Given the description of an element on the screen output the (x, y) to click on. 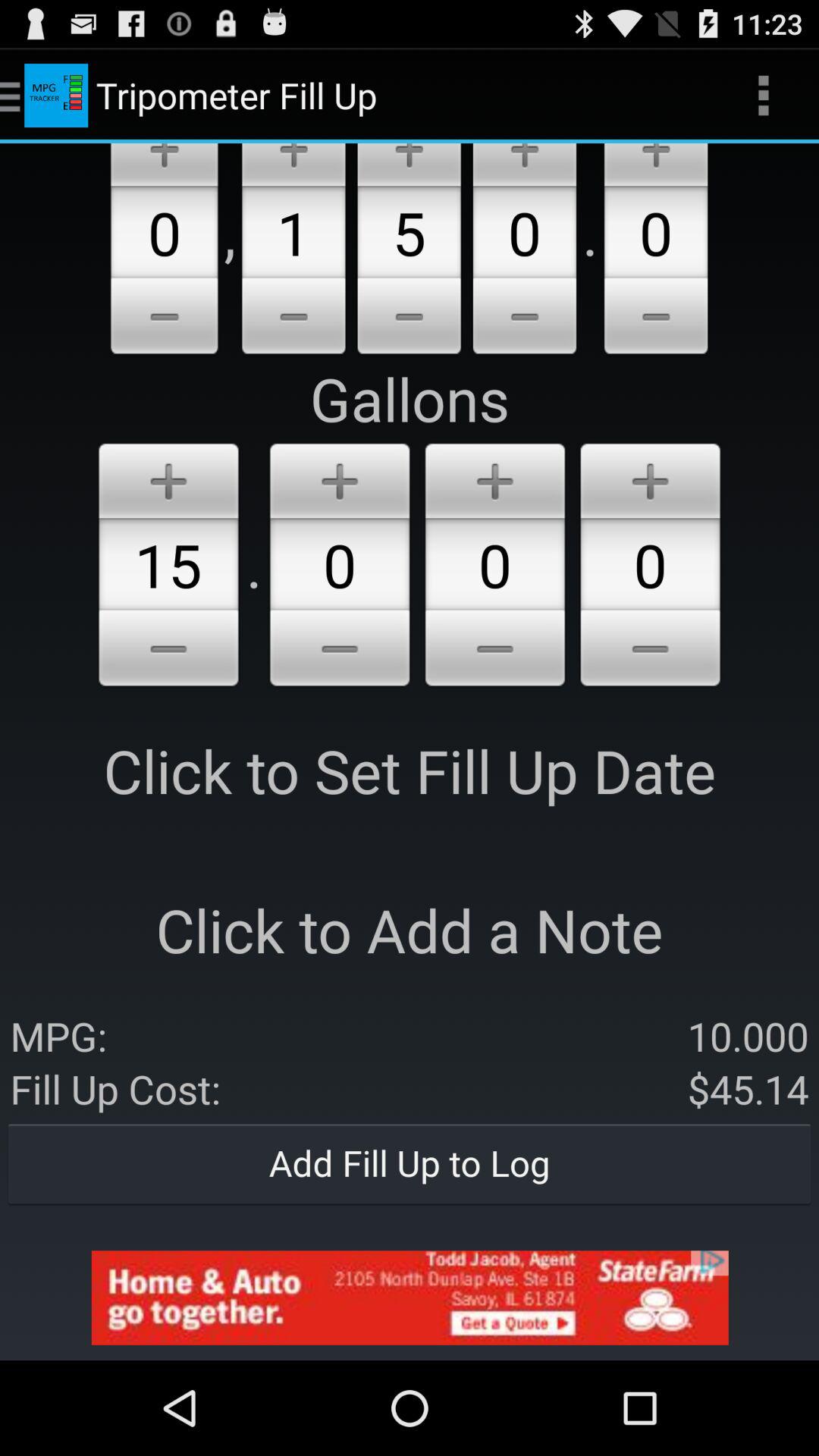
lower the number (164, 318)
